Given the description of an element on the screen output the (x, y) to click on. 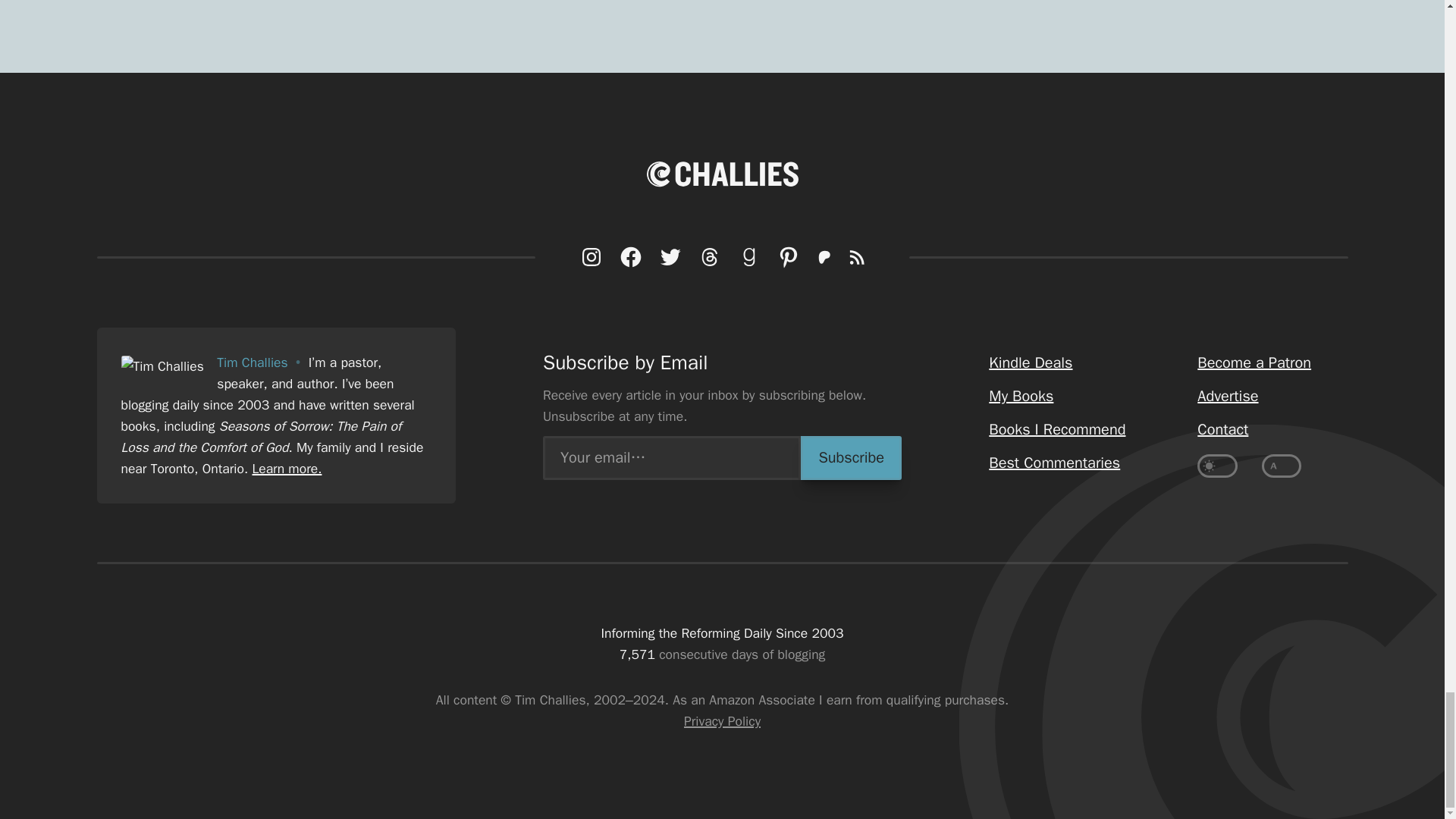
Challies logo (721, 173)
on (1281, 465)
on (1216, 465)
Subscribe (850, 457)
